Given the description of an element on the screen output the (x, y) to click on. 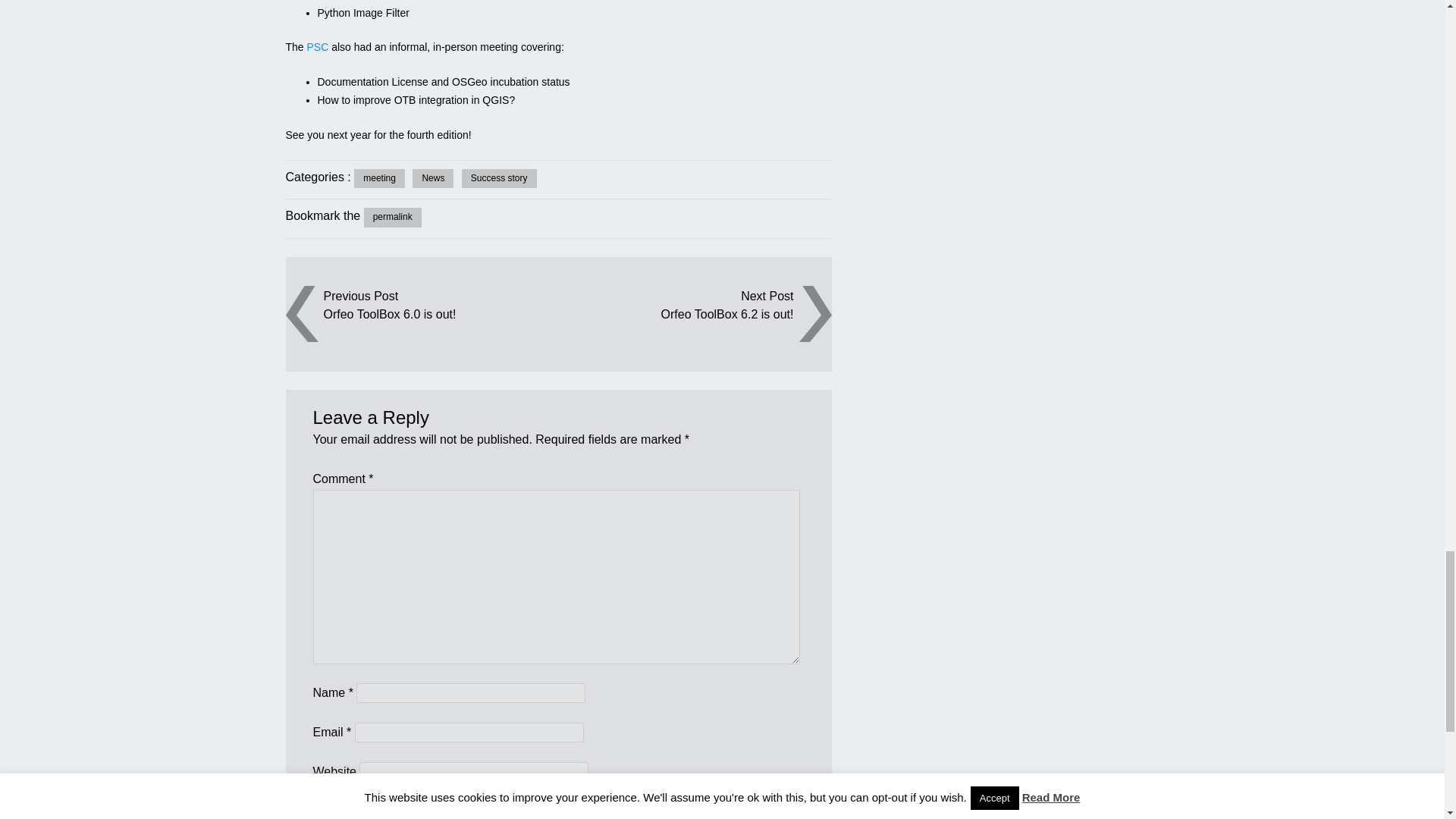
Post Comment (352, 810)
permalink (393, 217)
PSC (318, 46)
Success story (499, 178)
meeting (378, 178)
News (432, 178)
Orfeo ToolBox 6.0 is out! (440, 314)
Orfeo ToolBox 6.2 is out! (675, 314)
Post Comment (352, 810)
